Given the description of an element on the screen output the (x, y) to click on. 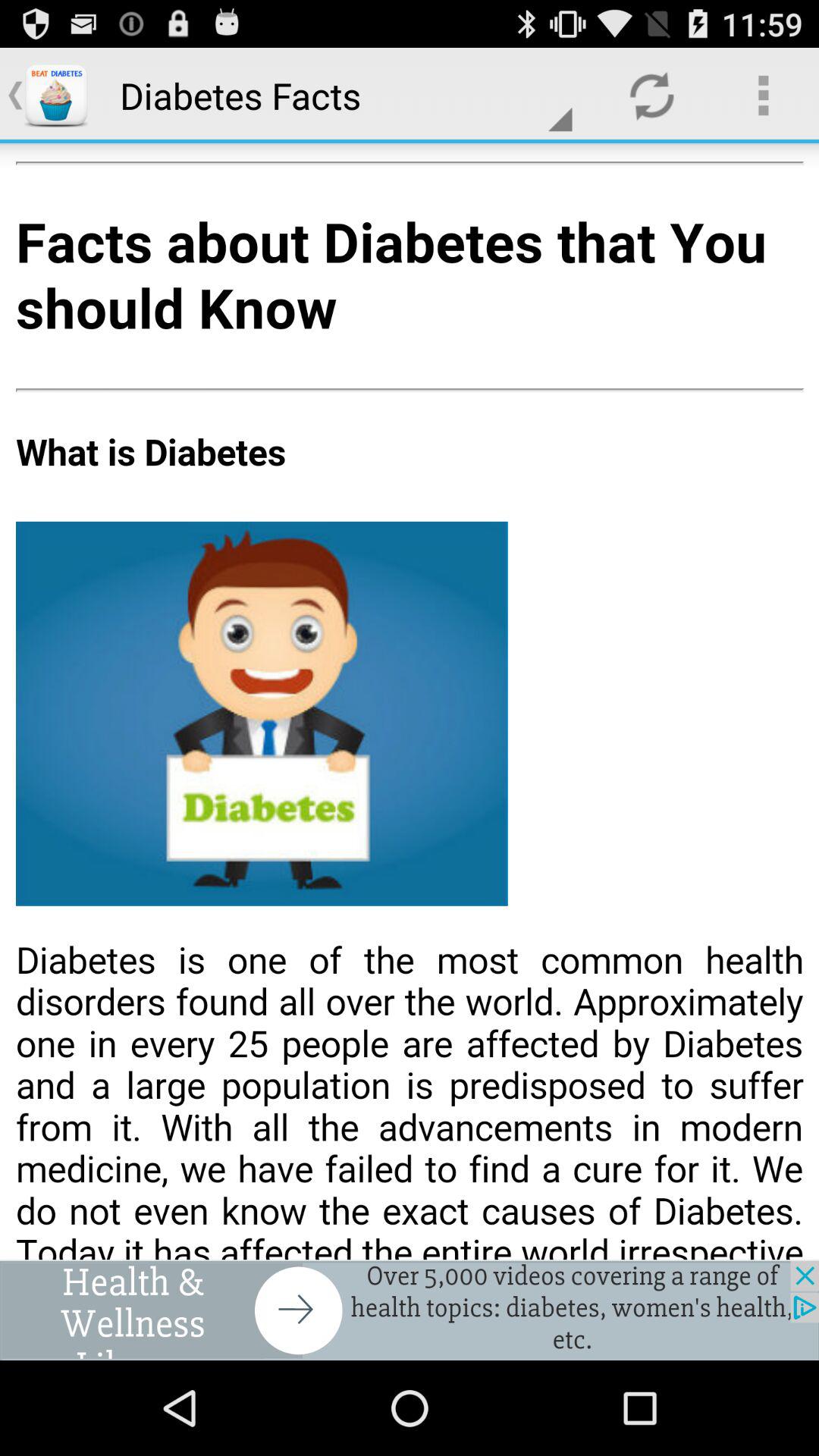
notification (409, 1310)
